Given the description of an element on the screen output the (x, y) to click on. 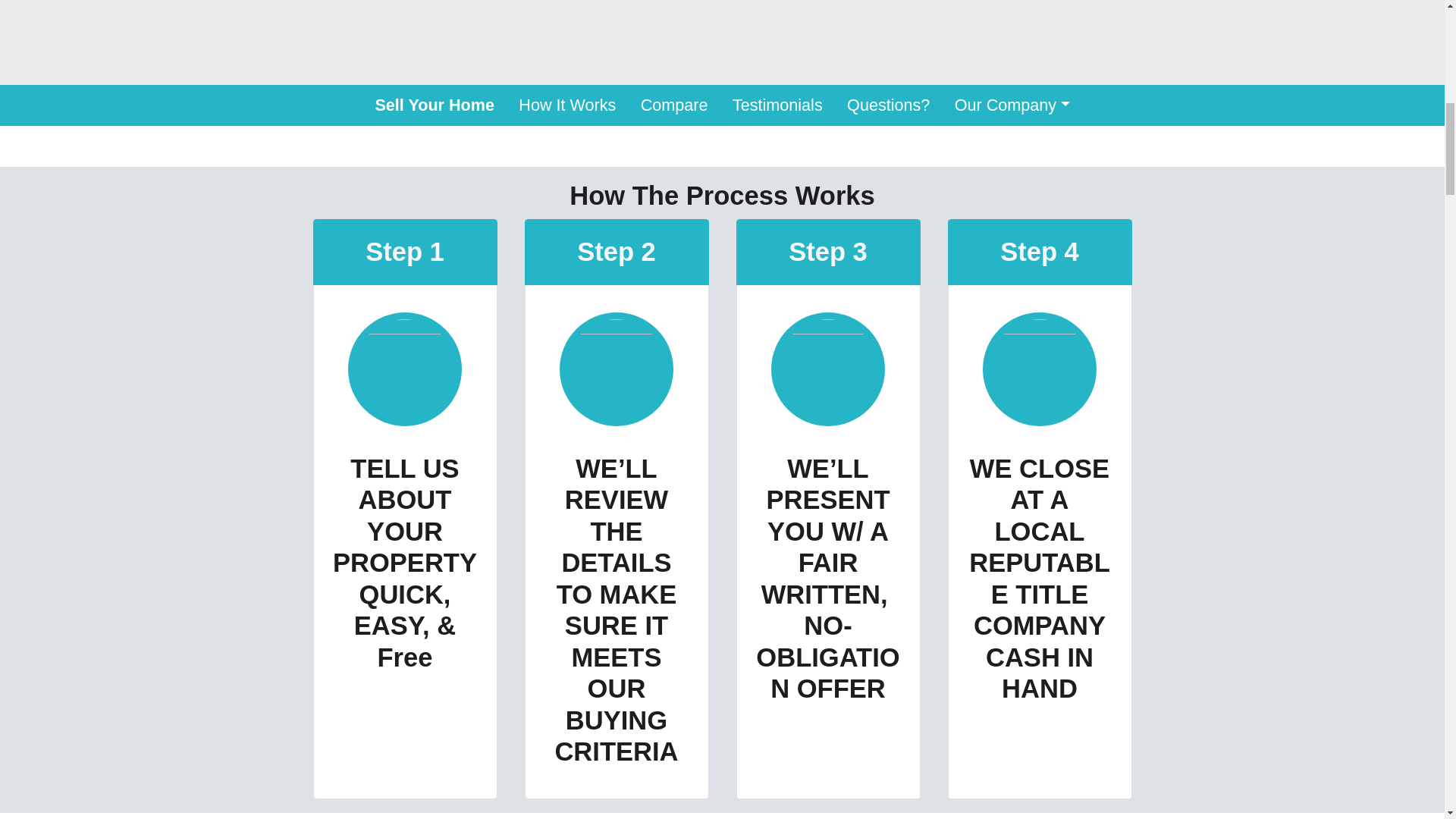
Questions? (888, 105)
Questions? (888, 105)
Testimonials (777, 105)
How It Works (566, 105)
Compare (674, 105)
How It Works (566, 105)
Our Company (1011, 105)
Our Company (1011, 105)
Sell Your Home (434, 105)
Compare (674, 105)
Sell Your Home (434, 105)
Testimonials (777, 105)
